Given the description of an element on the screen output the (x, y) to click on. 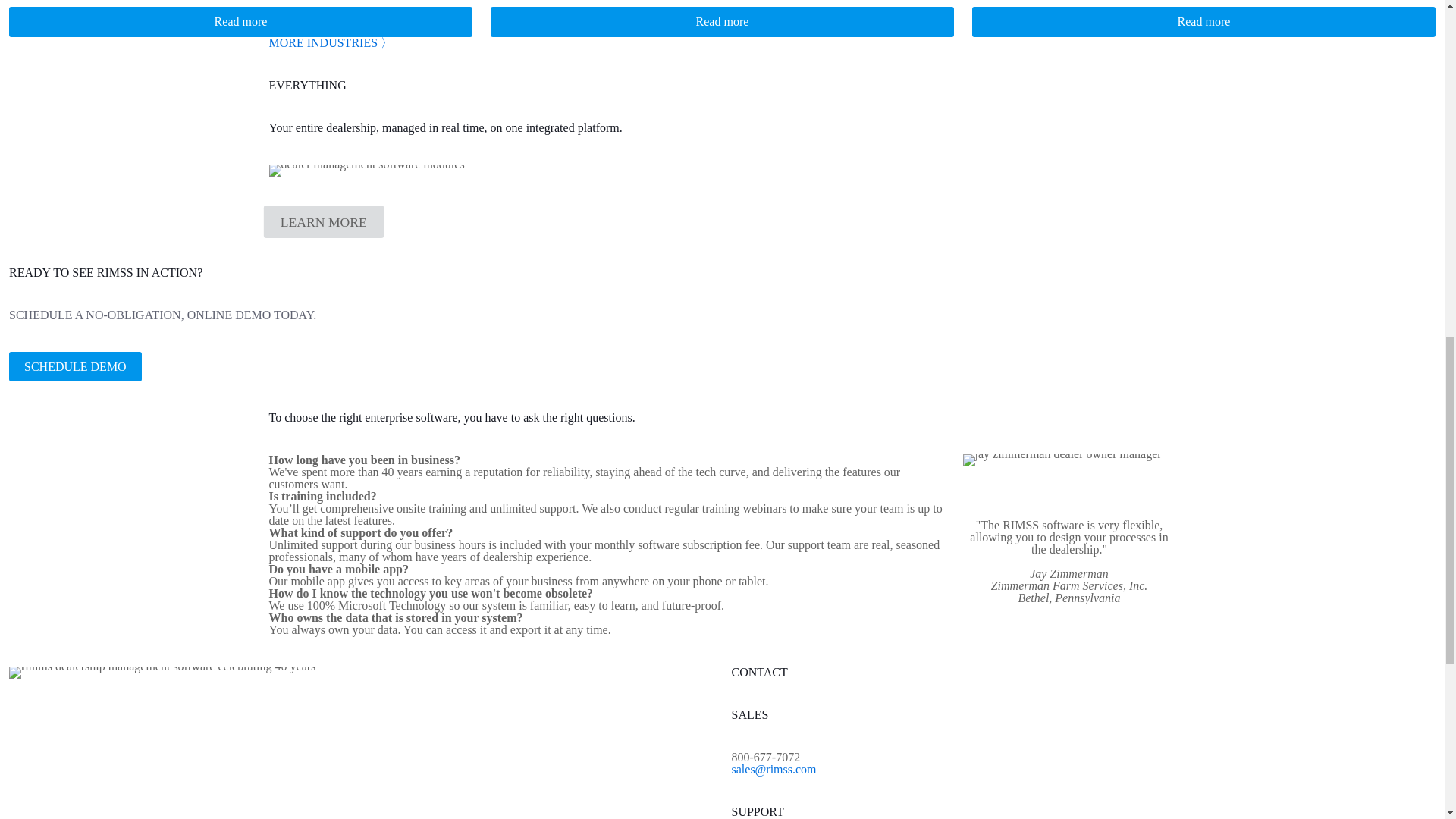
LEARN MORE (317, 220)
Read more (1203, 21)
Read more (239, 21)
Read more (721, 21)
SCHEDULE DEMO (74, 366)
